Given the description of an element on the screen output the (x, y) to click on. 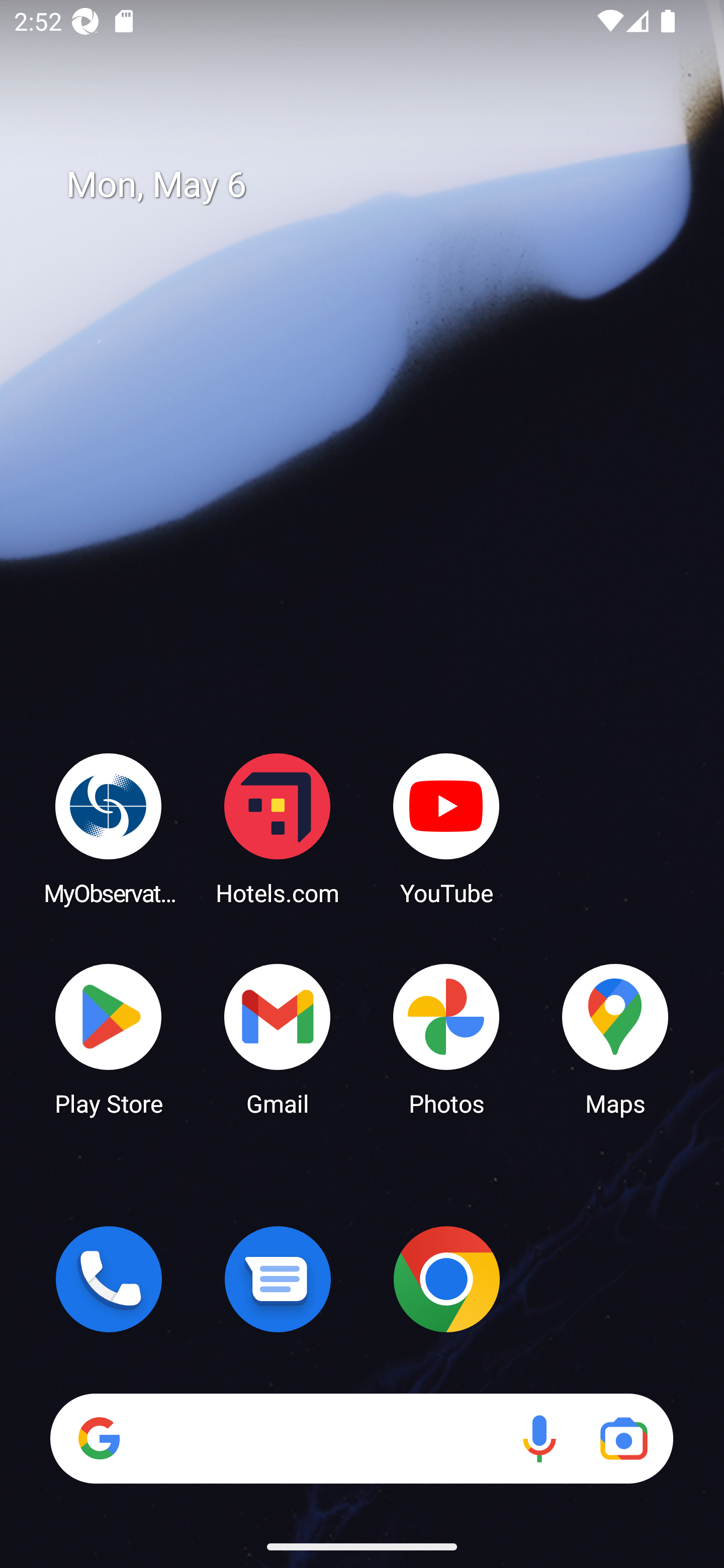
Mon, May 6 (375, 184)
MyObservatory (108, 828)
Hotels.com (277, 828)
YouTube (445, 828)
Play Store (108, 1038)
Gmail (277, 1038)
Photos (445, 1038)
Maps (615, 1038)
Phone (108, 1279)
Messages (277, 1279)
Chrome (446, 1279)
Search Voice search Google Lens (361, 1438)
Voice search (539, 1438)
Google Lens (623, 1438)
